Given the description of an element on the screen output the (x, y) to click on. 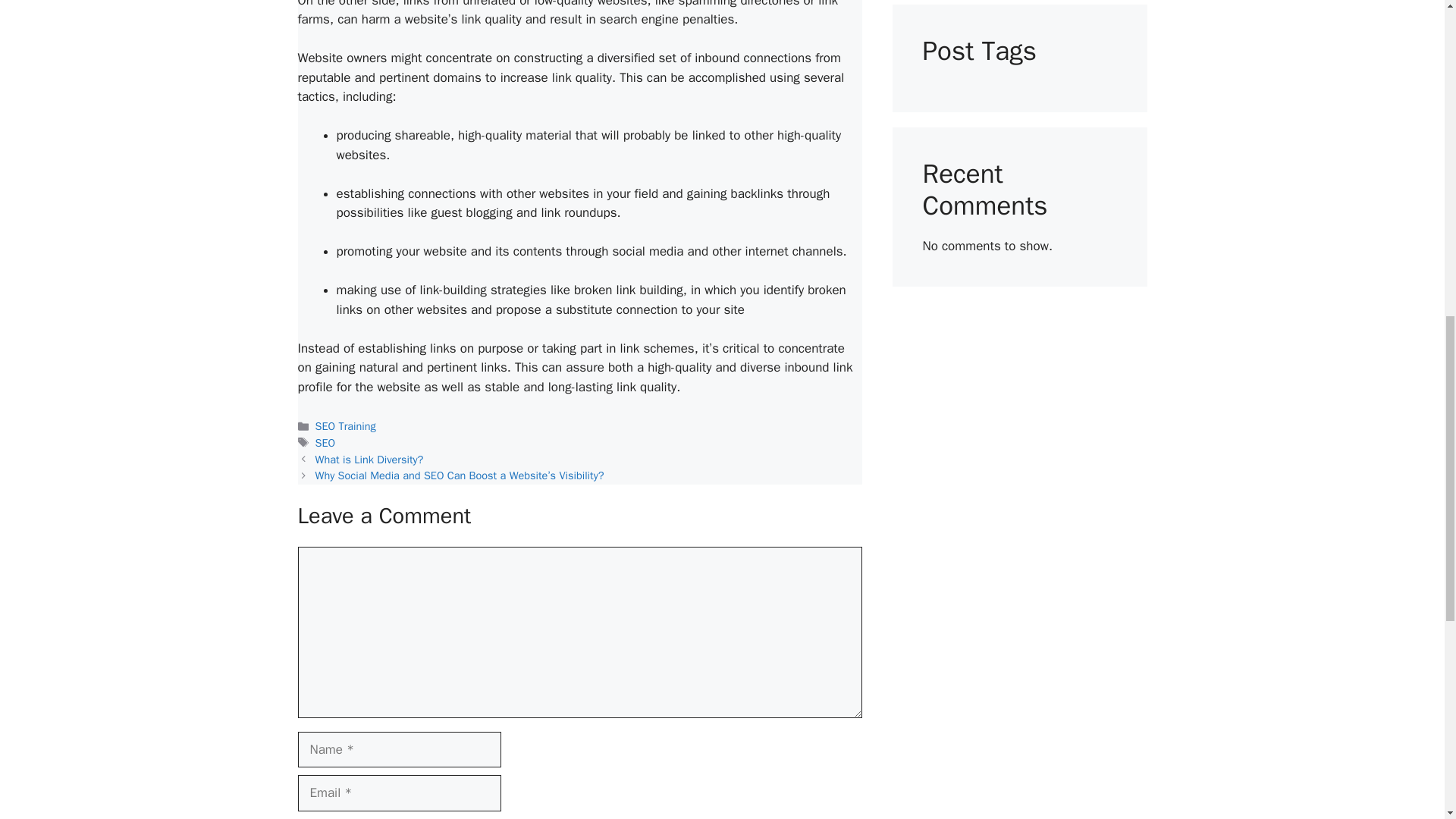
SEO Training (345, 426)
What is Link Diversity? (369, 459)
SEO (325, 442)
